Given the description of an element on the screen output the (x, y) to click on. 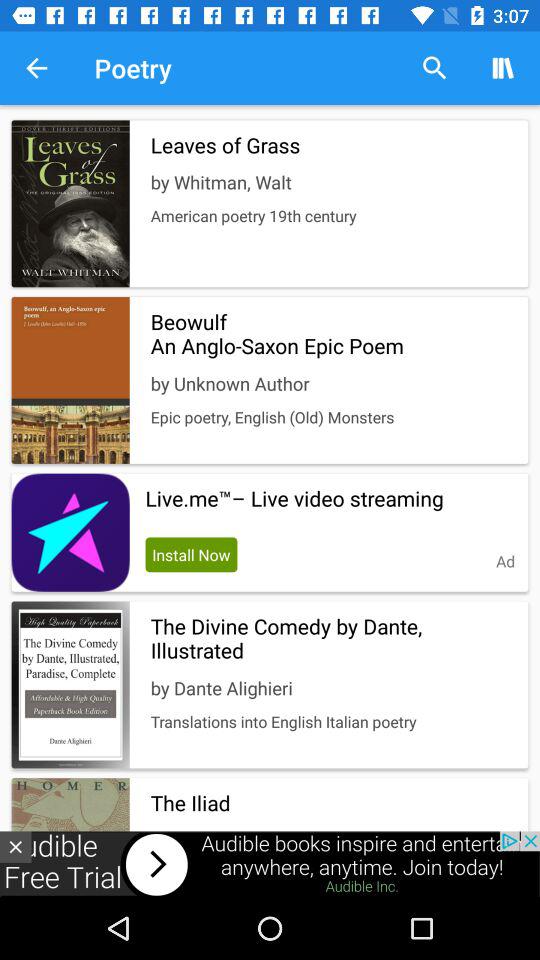
exit a advertisement (15, 846)
